Given the description of an element on the screen output the (x, y) to click on. 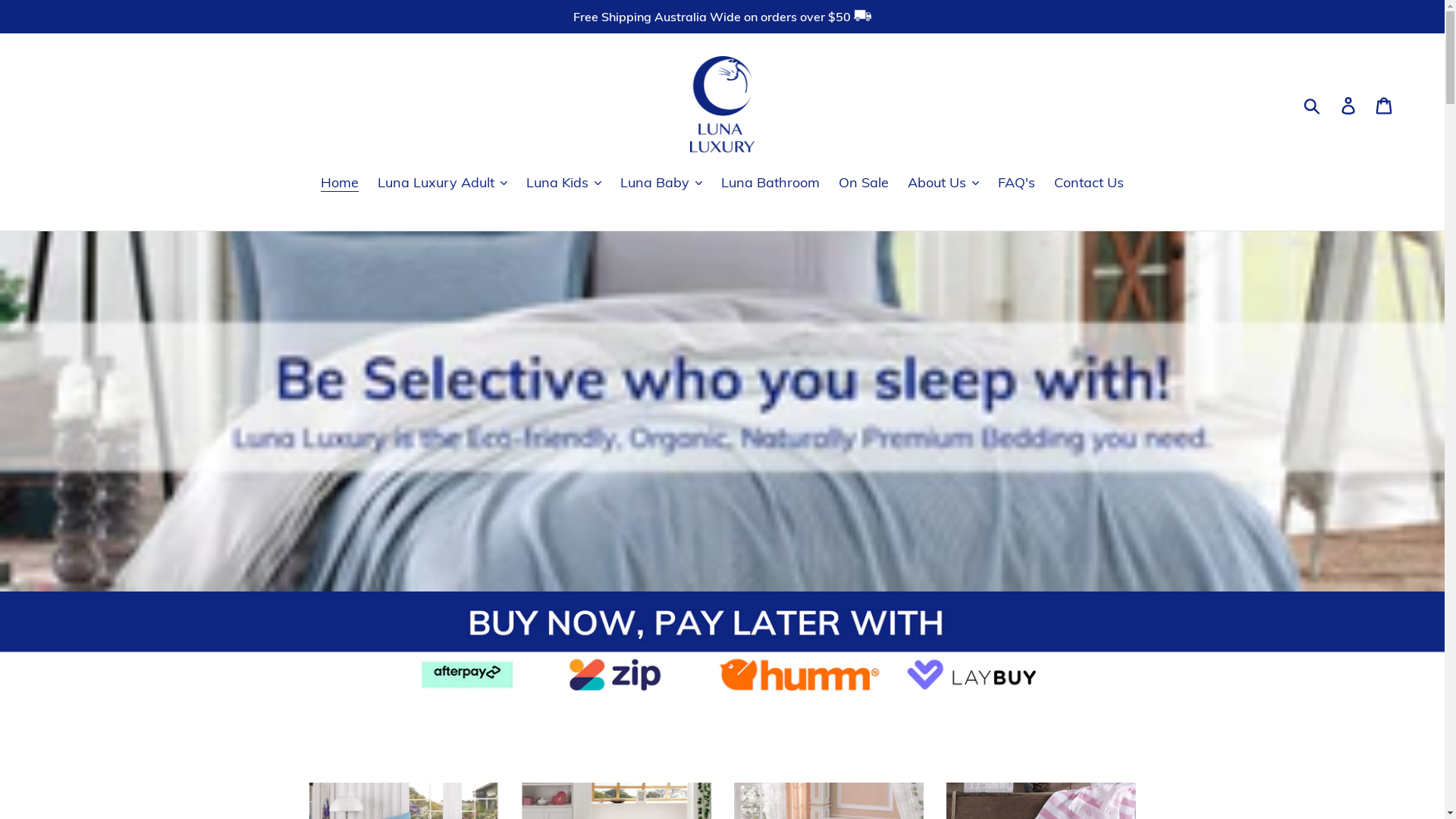
Submit Element type: text (1312, 104)
Log in Element type: text (1349, 104)
Cart Element type: text (1384, 104)
FAQ's Element type: text (1016, 182)
Contact Us Element type: text (1088, 182)
On Sale Element type: text (863, 182)
Luna Bathroom Element type: text (770, 182)
Home Element type: text (339, 182)
